Given the description of an element on the screen output the (x, y) to click on. 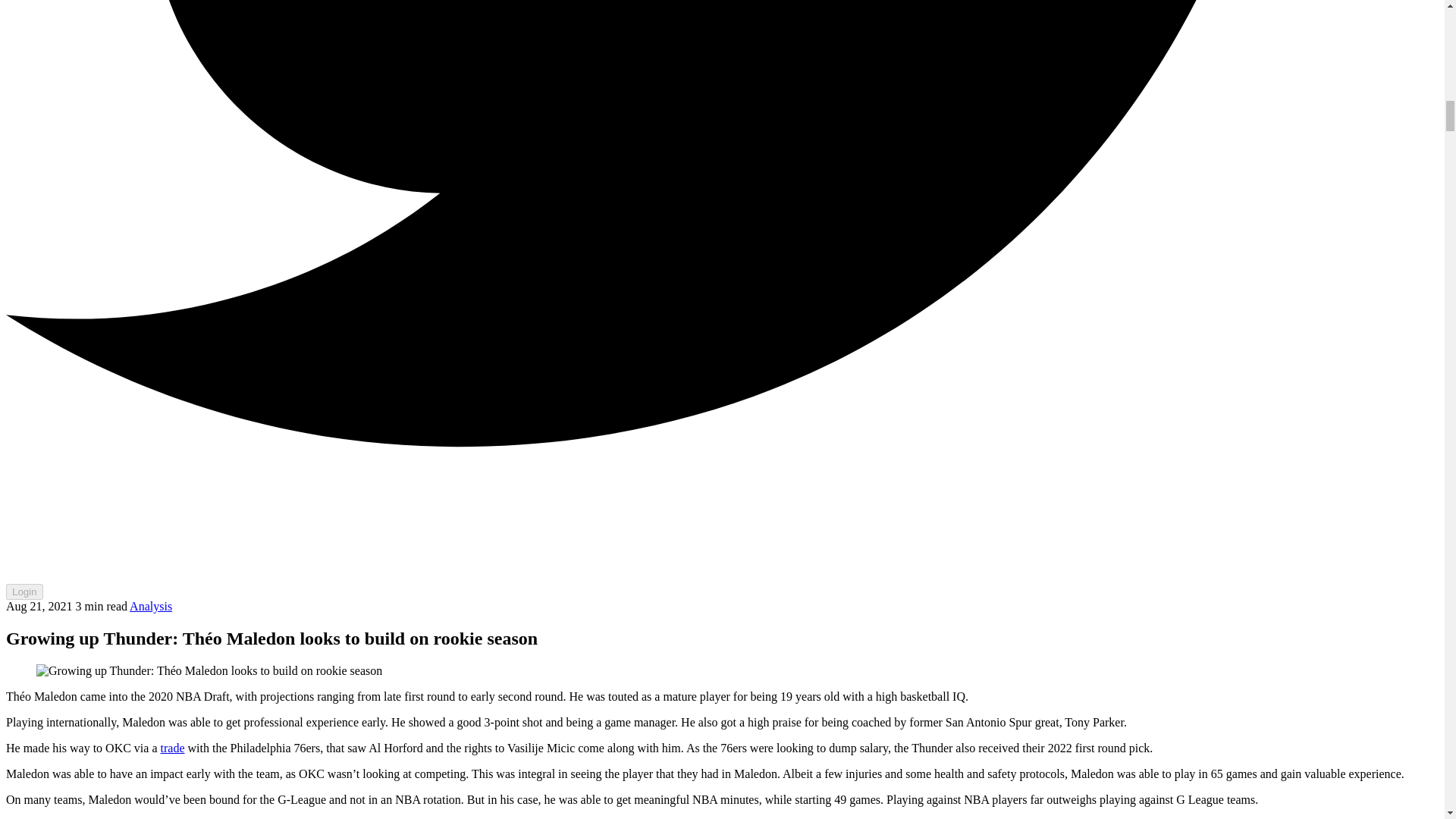
trade (172, 748)
Analysis (150, 605)
Login (24, 591)
